Given the description of an element on the screen output the (x, y) to click on. 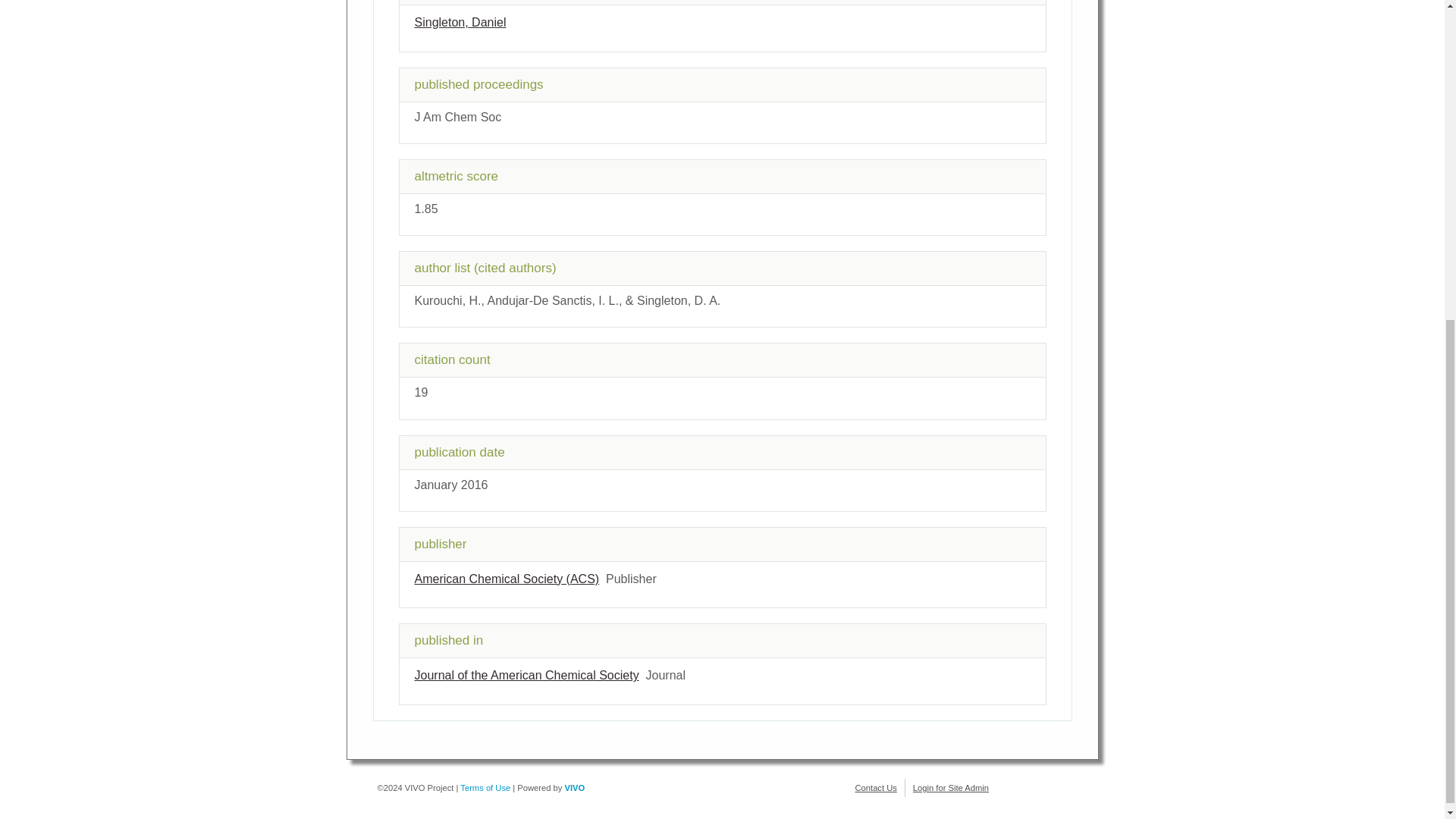
Singleton, Daniel (459, 21)
Terms of Use (485, 787)
name (505, 578)
VIVO (574, 787)
Contact Us (876, 787)
Journal of the American Chemical Society (526, 675)
Login for Site Admin (950, 787)
author name (459, 21)
name (526, 675)
